Given the description of an element on the screen output the (x, y) to click on. 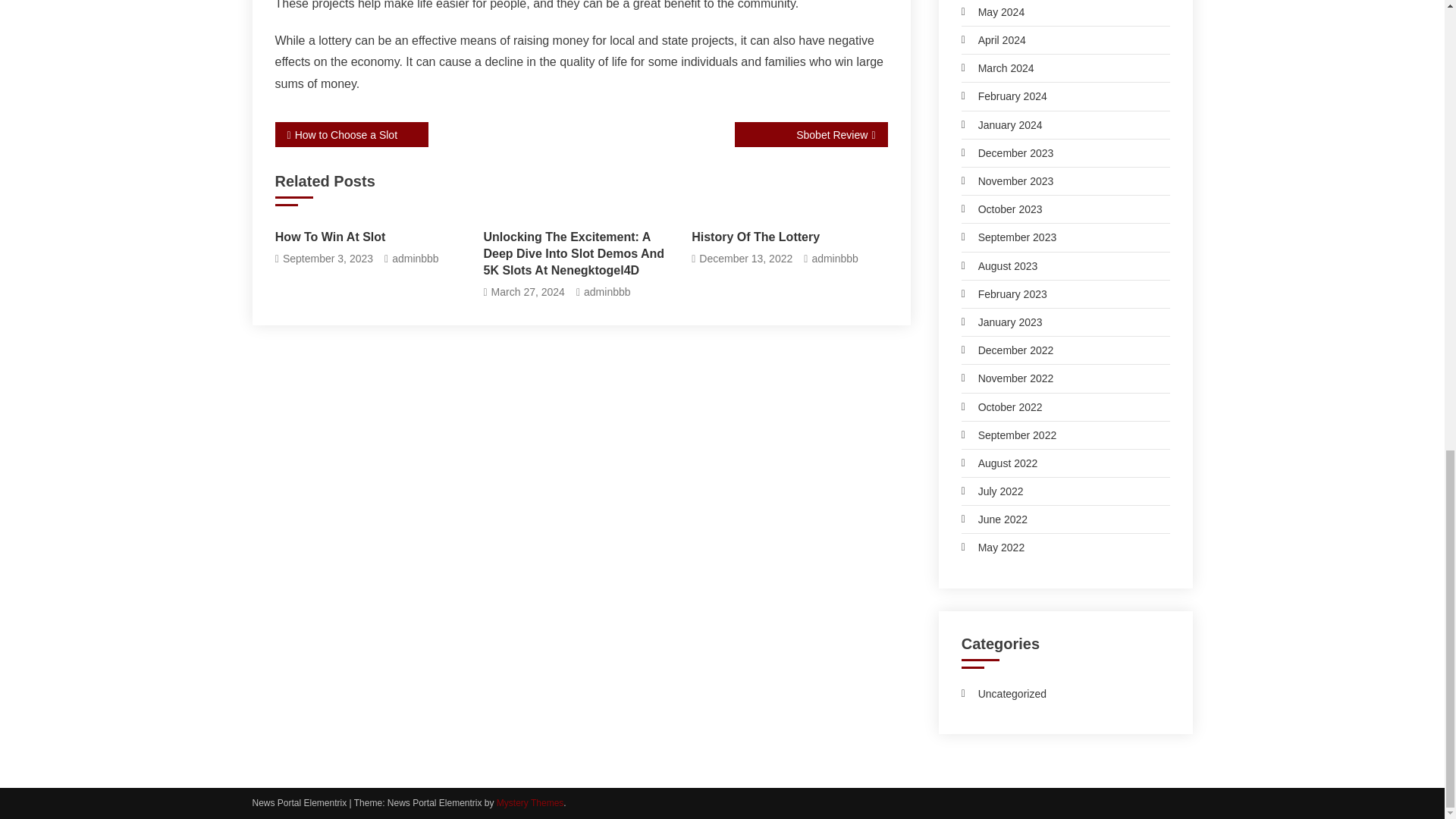
March 2024 (996, 67)
adminbbb (415, 258)
History Of The Lottery (788, 237)
March 27, 2024 (528, 292)
December 13, 2022 (745, 258)
May 2024 (992, 12)
How to Choose a Slot (351, 134)
September 3, 2023 (327, 258)
adminbbb (834, 258)
February 2024 (1003, 96)
